Given the description of an element on the screen output the (x, y) to click on. 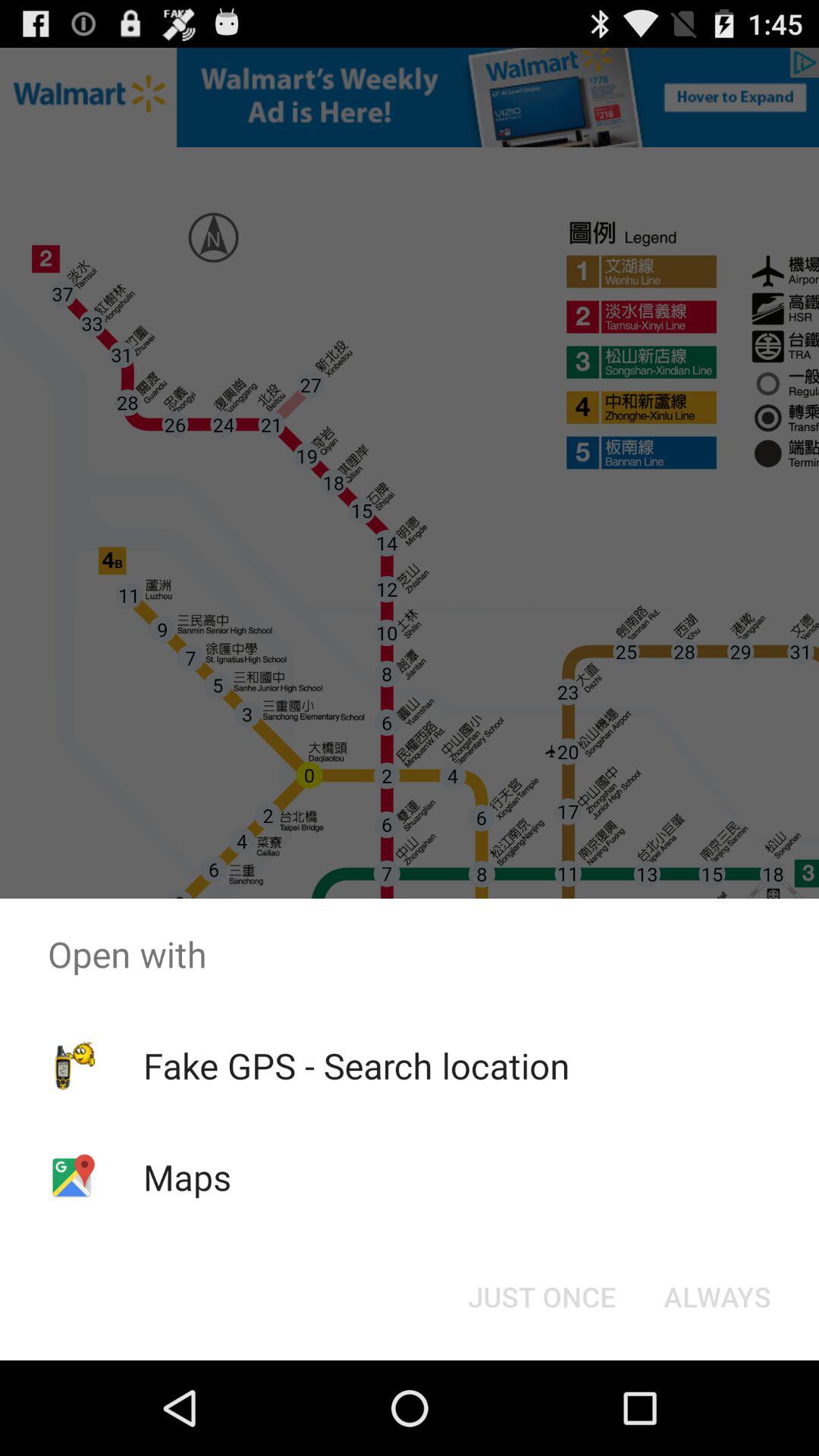
scroll until the maps app (187, 1176)
